Given the description of an element on the screen output the (x, y) to click on. 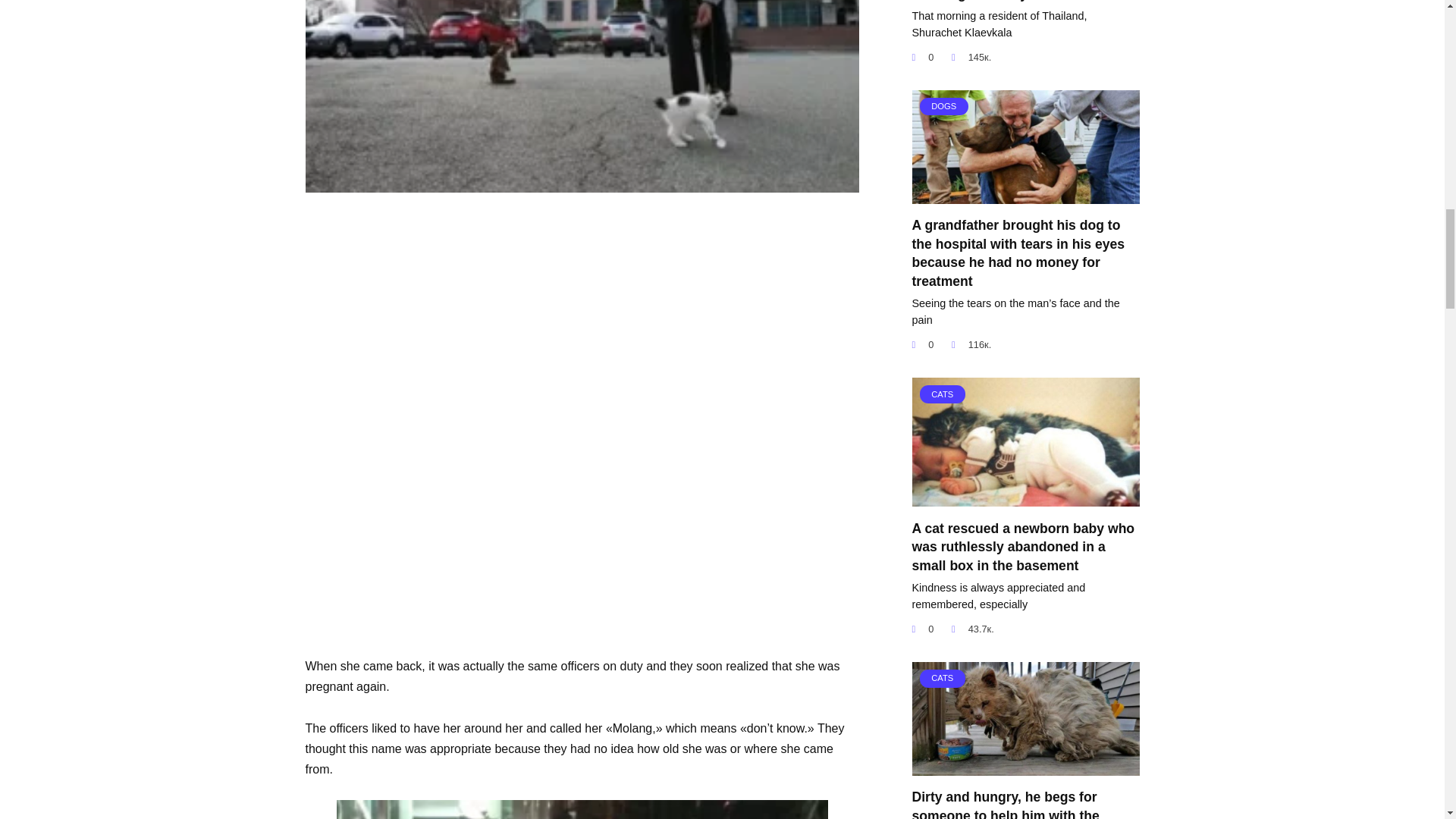
CATS (1024, 766)
Advertisement (581, 549)
Advertisement (581, 318)
DOGS (1024, 194)
CATS (1024, 496)
